Given the description of an element on the screen output the (x, y) to click on. 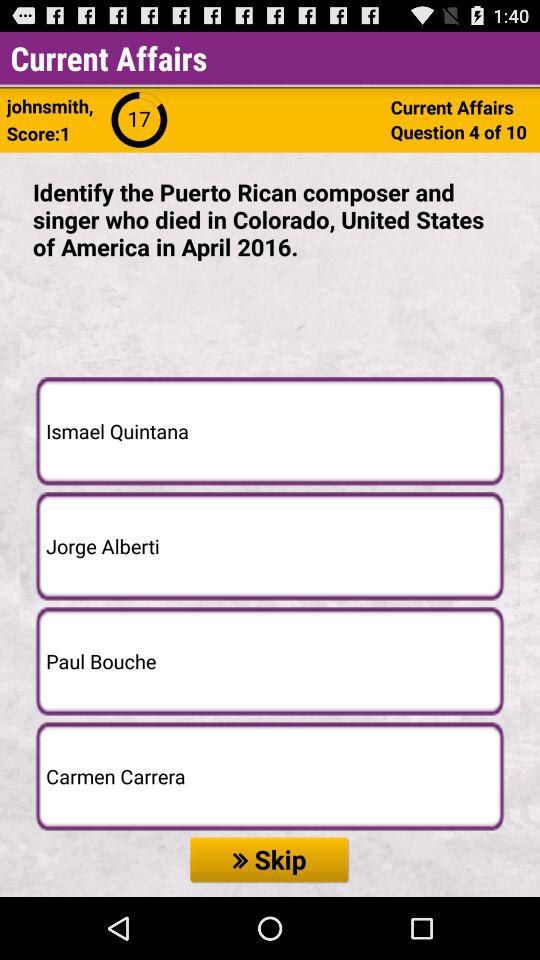
turn off carmen carrera icon (270, 776)
